Given the description of an element on the screen output the (x, y) to click on. 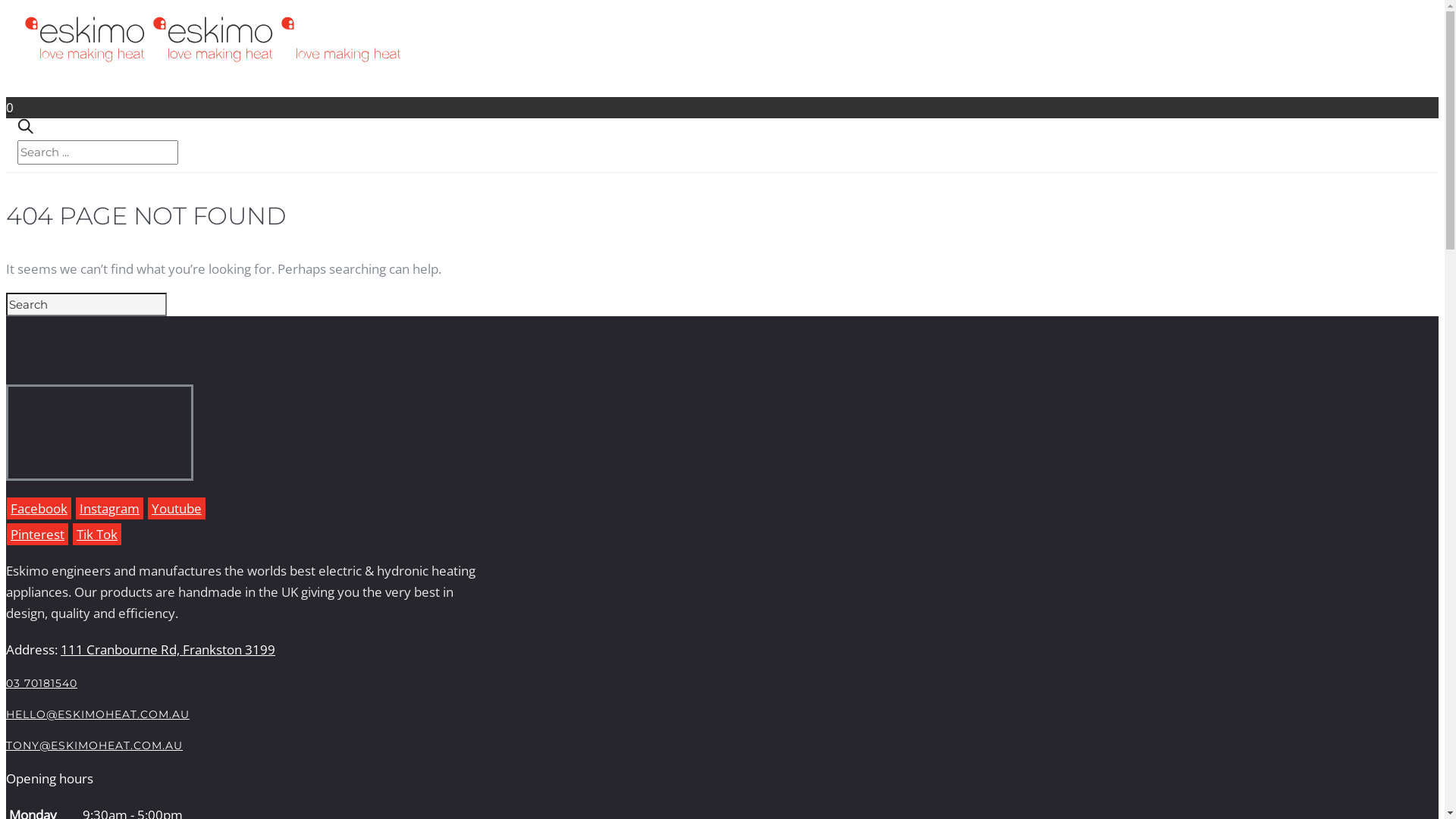
HELLO@ESKIMOHEAT.COM.AU Element type: text (97, 714)
Youtube Element type: text (176, 508)
TONY@ESKIMOHEAT.COM.AU Element type: text (94, 745)
Tik Tok Element type: text (96, 534)
Instagram Element type: text (109, 508)
Artboard 1final white Element type: hover (8, 471)
111 Cranbourne Rd, Frankston 3199 Element type: text (167, 649)
Pinterest Element type: text (37, 534)
0 Element type: text (722, 93)
03 70181540 Element type: text (41, 683)
Facebook Element type: text (38, 508)
